Given the description of an element on the screen output the (x, y) to click on. 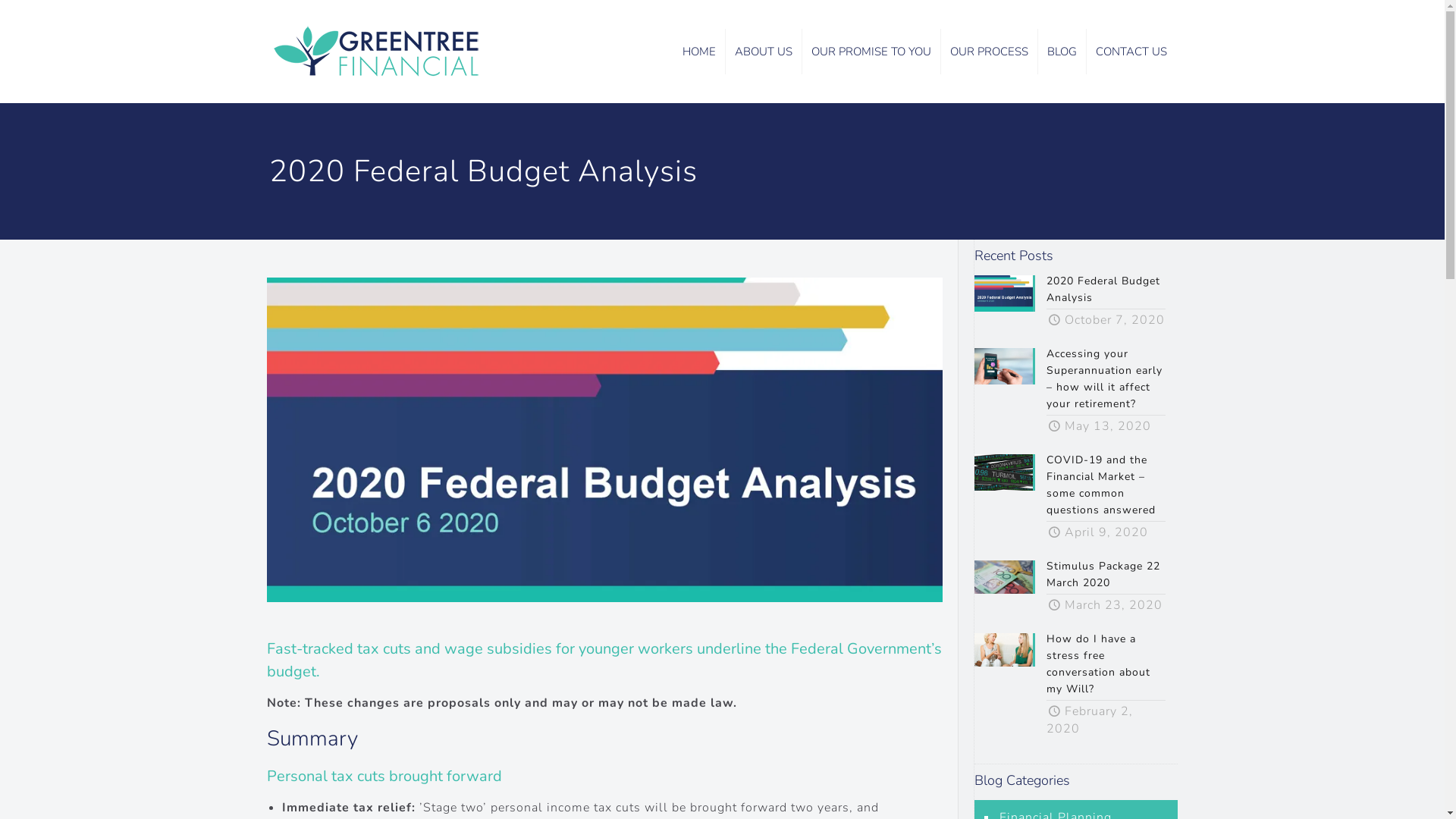
Stimulus Package 22 March 2020
March 23, 2020 Element type: text (1074, 588)
BLOG Element type: text (1062, 51)
2020 Federal Budget Analysis
October 7, 2020 Element type: text (1074, 302)
HOME Element type: text (699, 51)
OUR PROMISE TO YOU Element type: text (871, 51)
ABOUT US Element type: text (763, 51)
OUR PROCESS Element type: text (989, 51)
Greentree Financial Element type: hover (382, 51)
CONTACT US Element type: text (1131, 51)
